Given the description of an element on the screen output the (x, y) to click on. 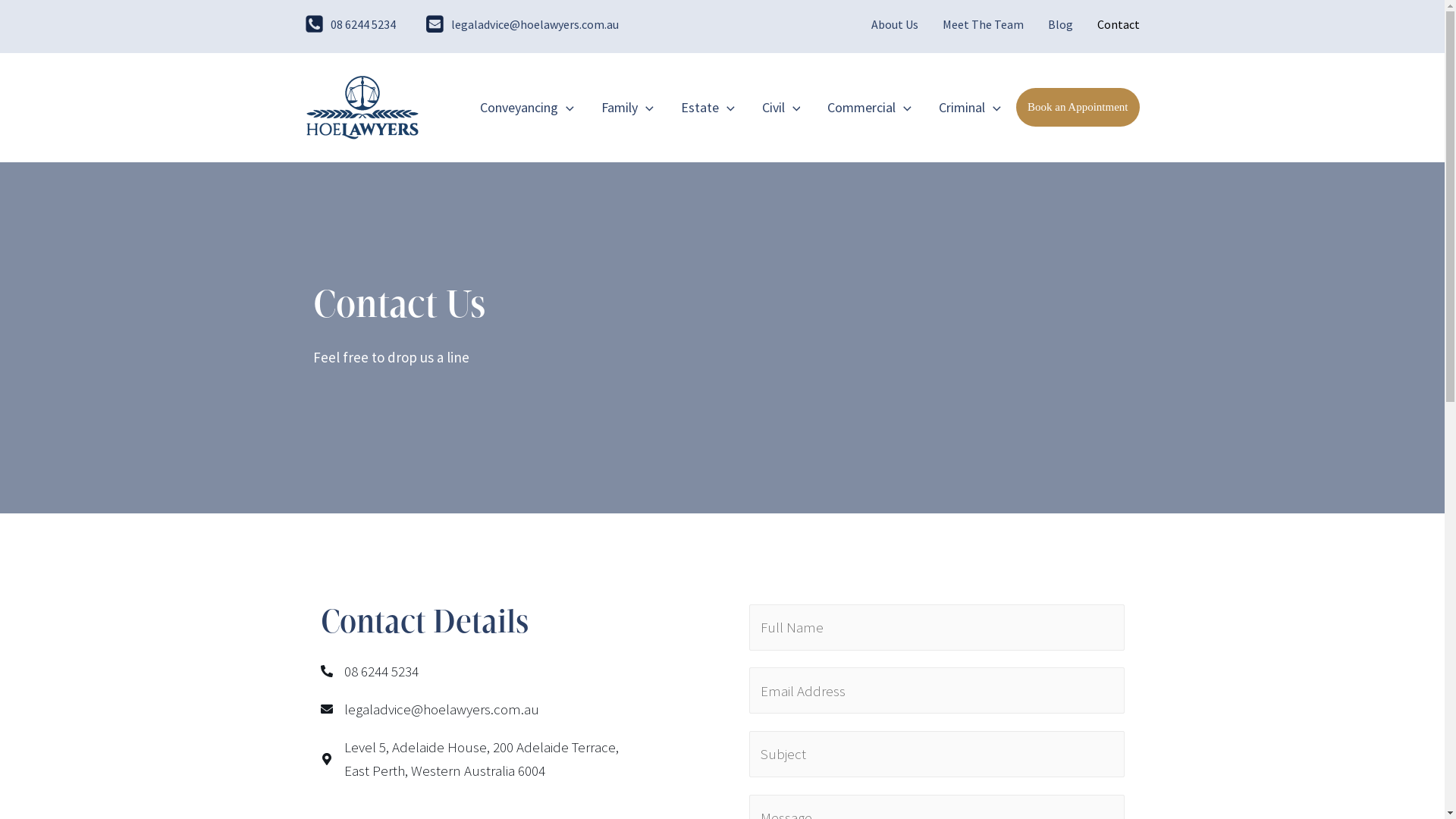
About Us Element type: text (893, 24)
Estate Element type: text (707, 108)
Blog Element type: text (1060, 24)
legaladvice@hoelawyers.com.au Element type: text (534, 23)
Civil Element type: text (781, 108)
Meet The Team Element type: text (982, 24)
08 6244 5234 Element type: text (362, 23)
Criminal Element type: text (963, 108)
Contact Element type: text (1111, 24)
Family Element type: text (627, 108)
Commercial Element type: text (869, 108)
Conveyancing Element type: text (526, 108)
Book an Appointment Element type: text (1077, 106)
